Given the description of an element on the screen output the (x, y) to click on. 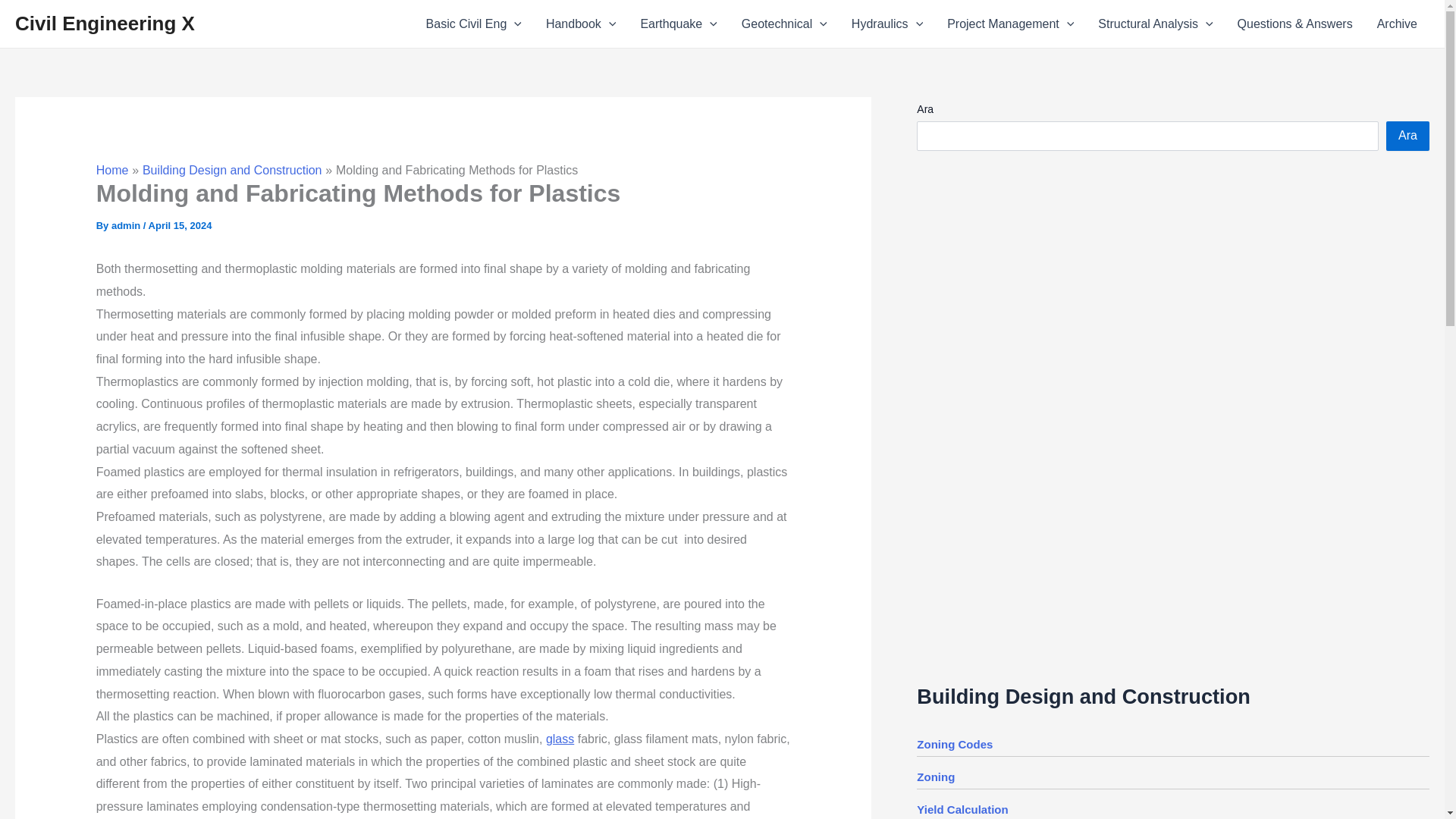
Handbook (581, 23)
Yield Calculation (962, 809)
Zoning Codes (954, 744)
glass (559, 738)
View all posts by admin (127, 225)
Zoning (936, 776)
Basic Civil Eng (473, 23)
Civil Engineering X (104, 23)
